Given the description of an element on the screen output the (x, y) to click on. 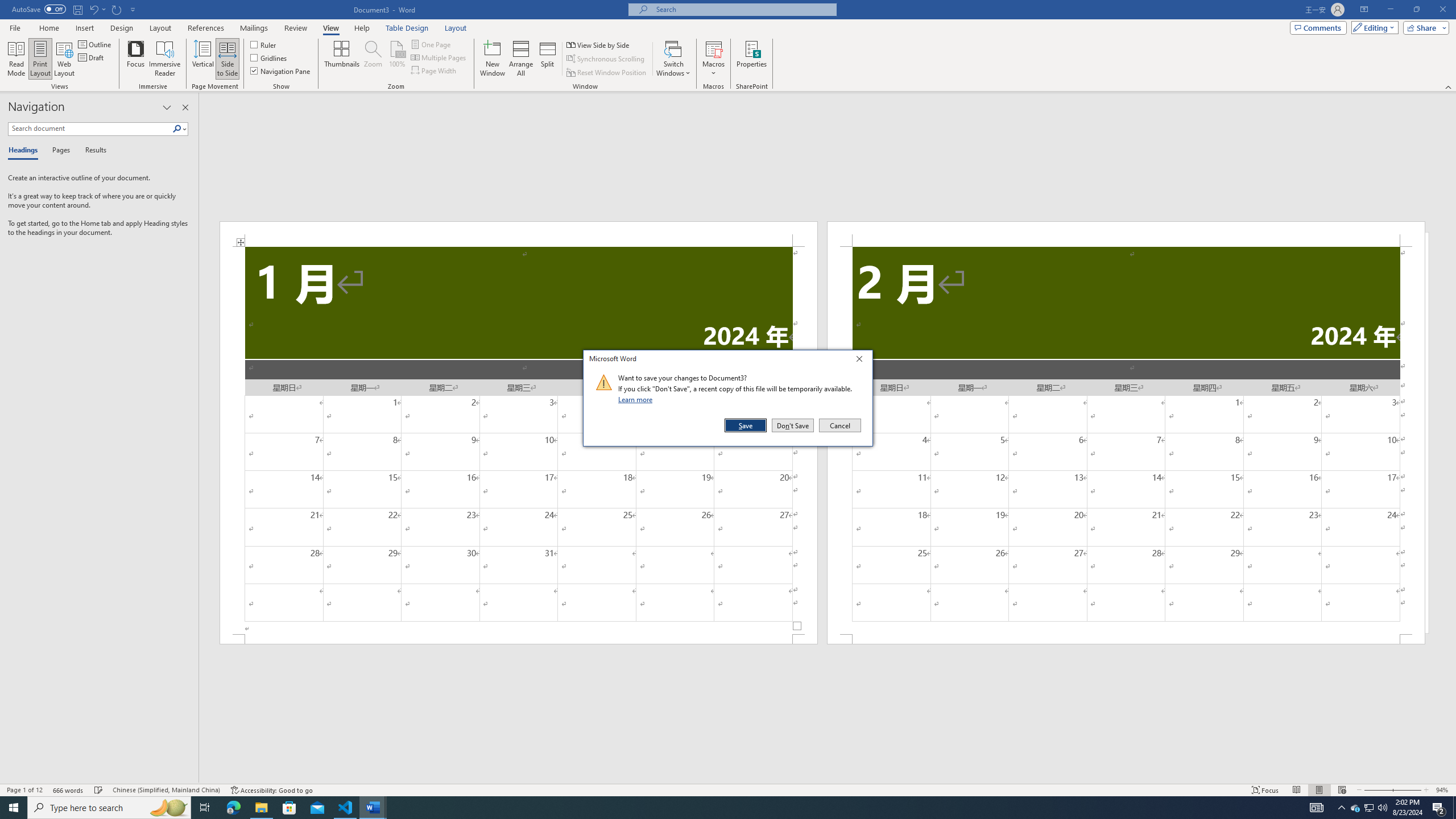
New Window (492, 58)
Vertical (202, 58)
Thumbnails (342, 58)
Switch Windows (673, 58)
